Given the description of an element on the screen output the (x, y) to click on. 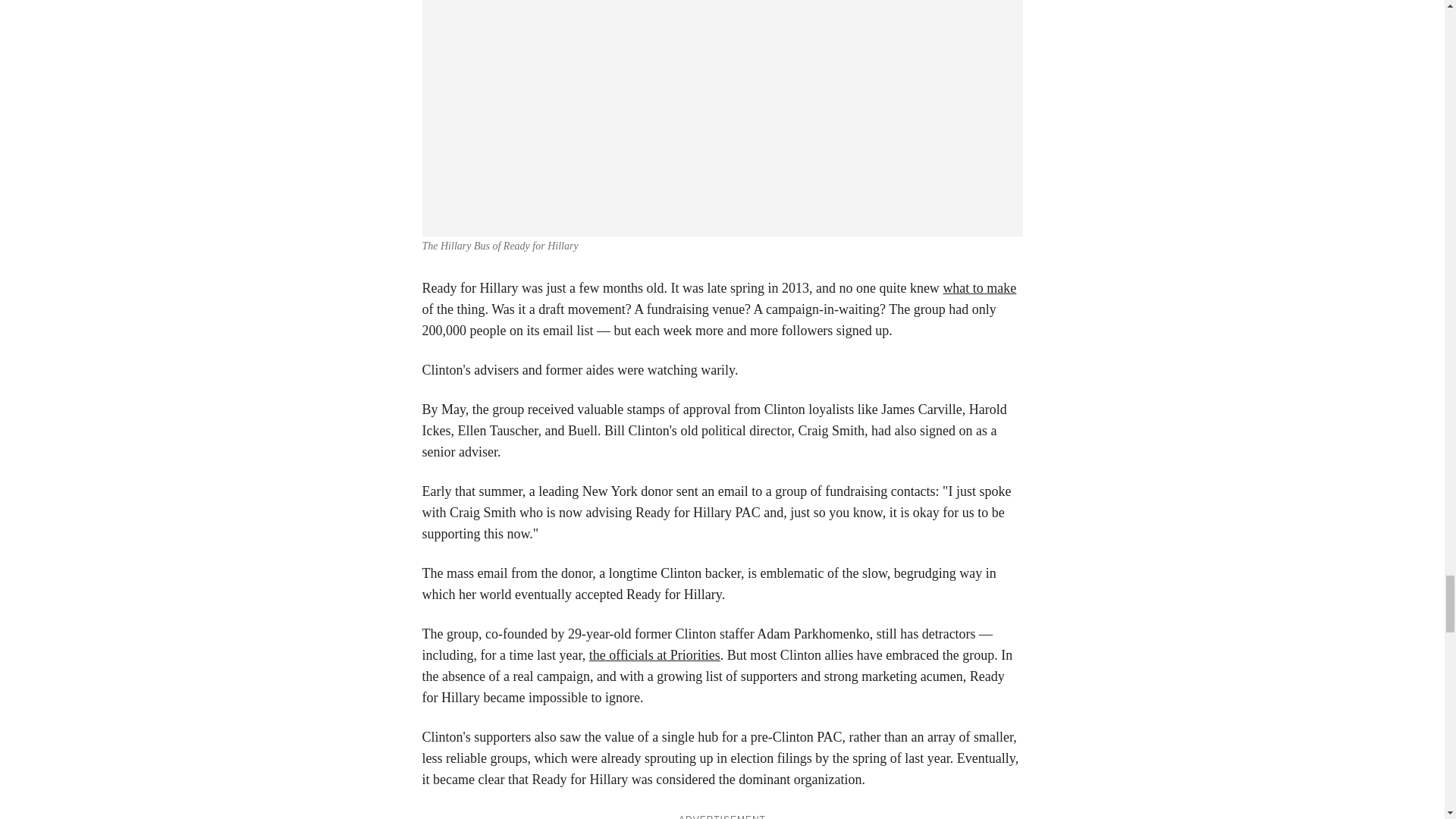
what to make (979, 287)
the officials at Priorities (654, 654)
